Given the description of an element on the screen output the (x, y) to click on. 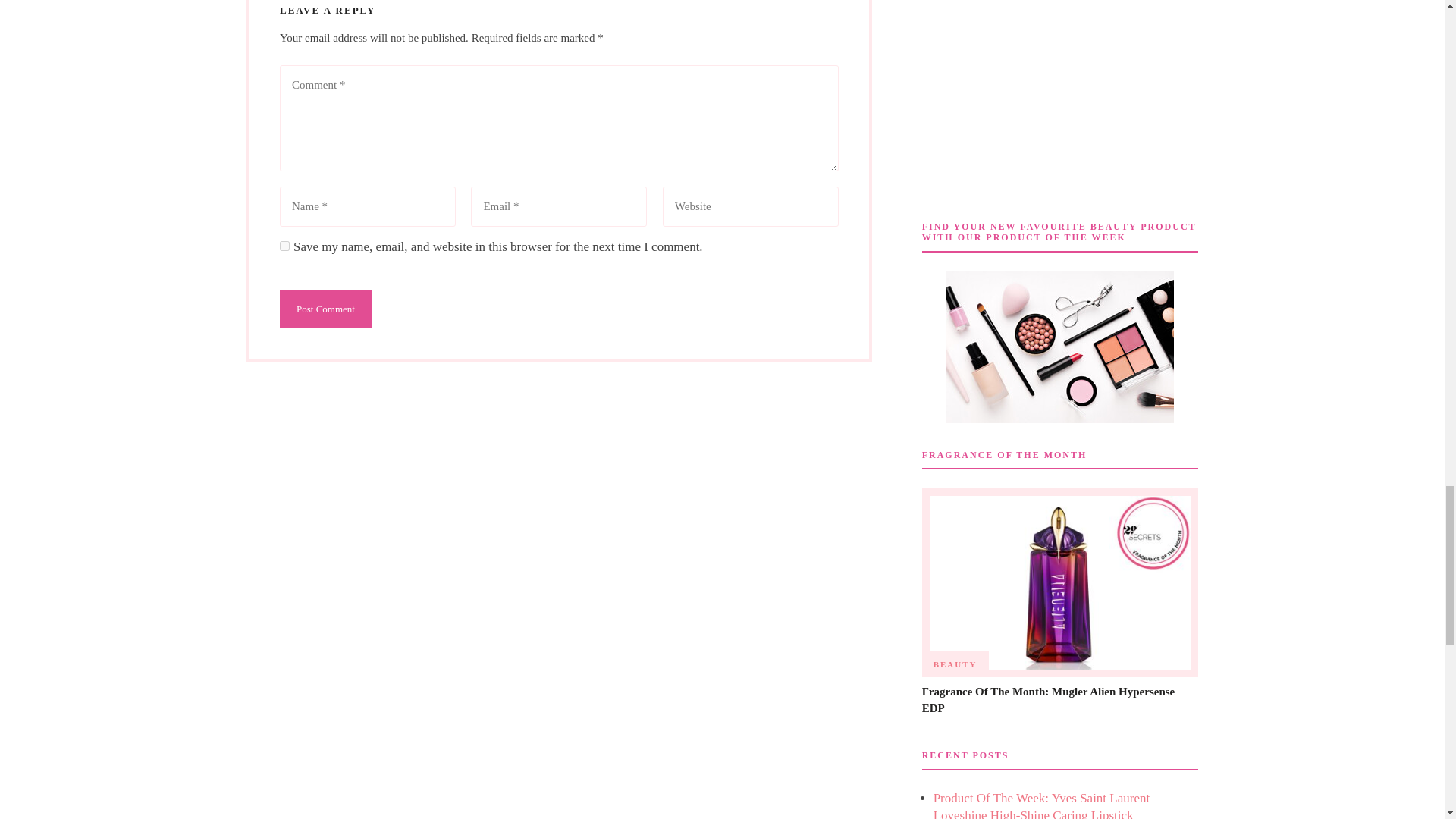
Post Comment (325, 308)
yes (284, 245)
